Given the description of an element on the screen output the (x, y) to click on. 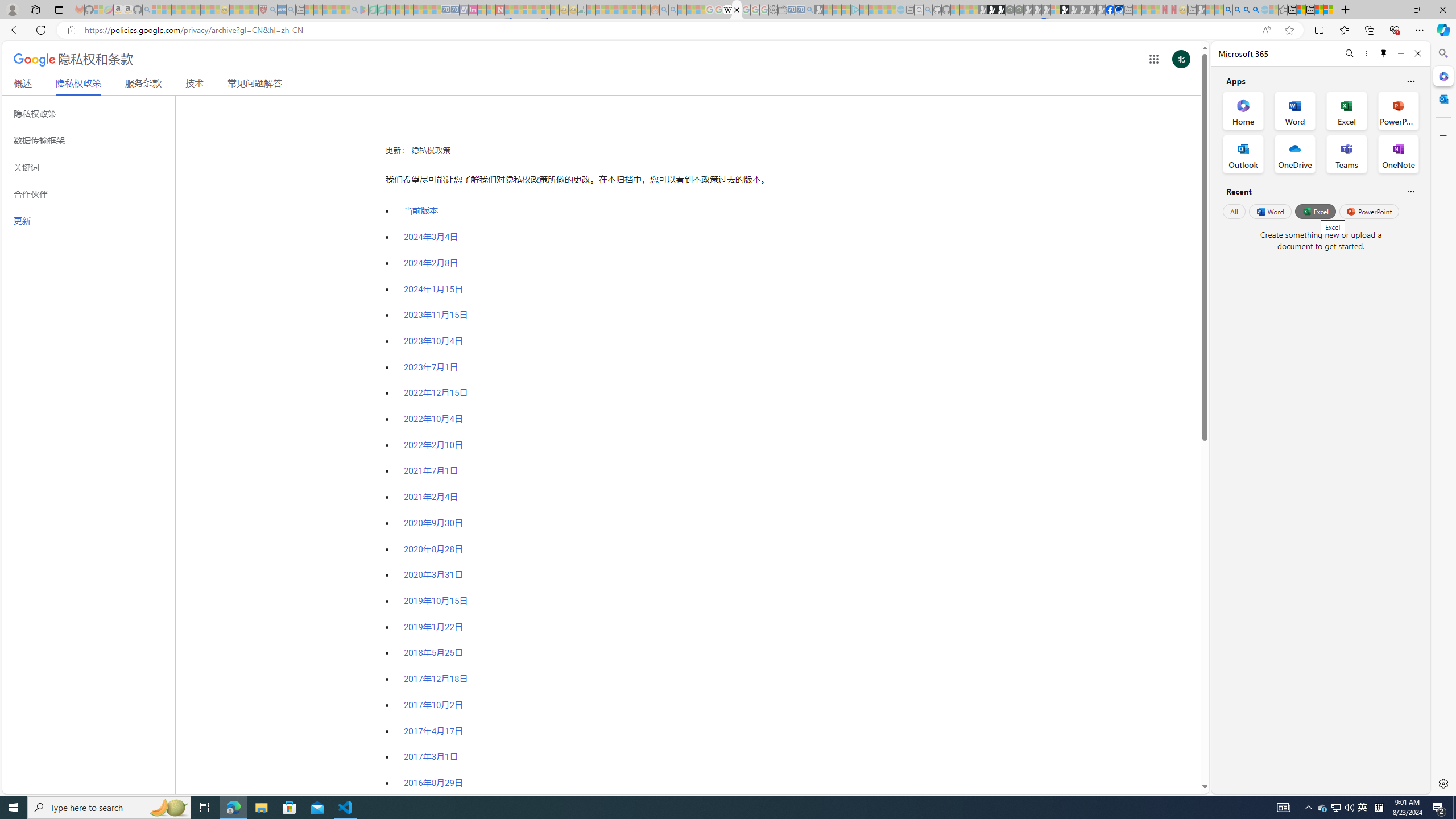
Future Focus Report 2024 - Sleeping (1018, 9)
Utah sues federal government - Search - Sleeping (672, 9)
Close Microsoft 365 pane (1442, 76)
Latest Politics News & Archive | Newsweek.com - Sleeping (499, 9)
PowerPoint Office App (1398, 110)
Local - MSN - Sleeping (253, 9)
Aberdeen, Hong Kong SAR weather forecast | Microsoft Weather (1300, 9)
Settings - Sleeping (773, 9)
